Given the description of an element on the screen output the (x, y) to click on. 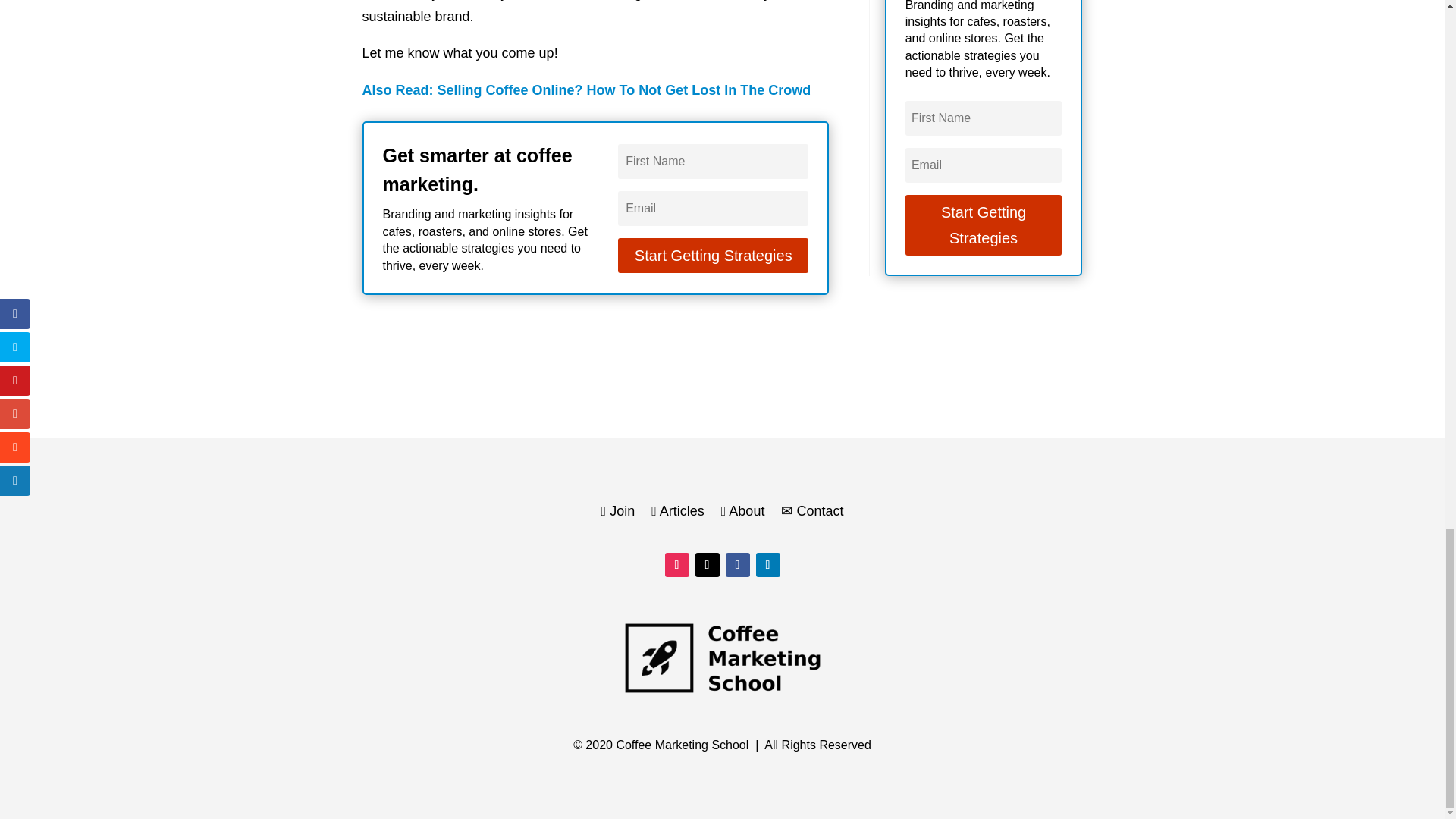
Follow on X (706, 564)
Start Getting Strategies (983, 224)
Follow on LinkedIn (766, 564)
Follow on Facebook (737, 564)
Follow on Instagram (675, 564)
Start Getting Strategies (712, 255)
